Given the description of an element on the screen output the (x, y) to click on. 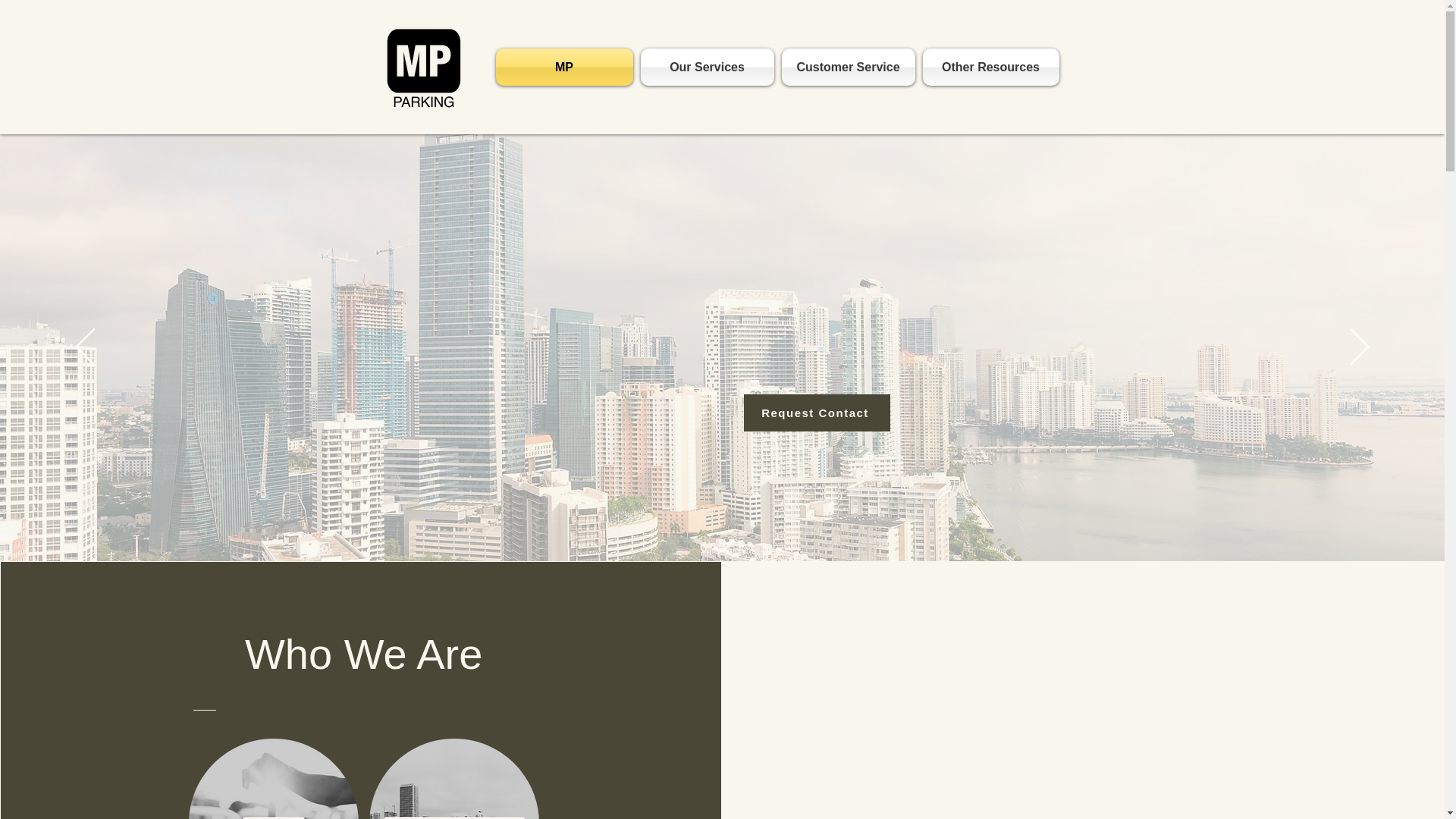
MP (566, 66)
Customer Service (847, 66)
Our Services (707, 66)
Request Contact (815, 412)
MPLOGOBLACK .png (422, 66)
